Given the description of an element on the screen output the (x, y) to click on. 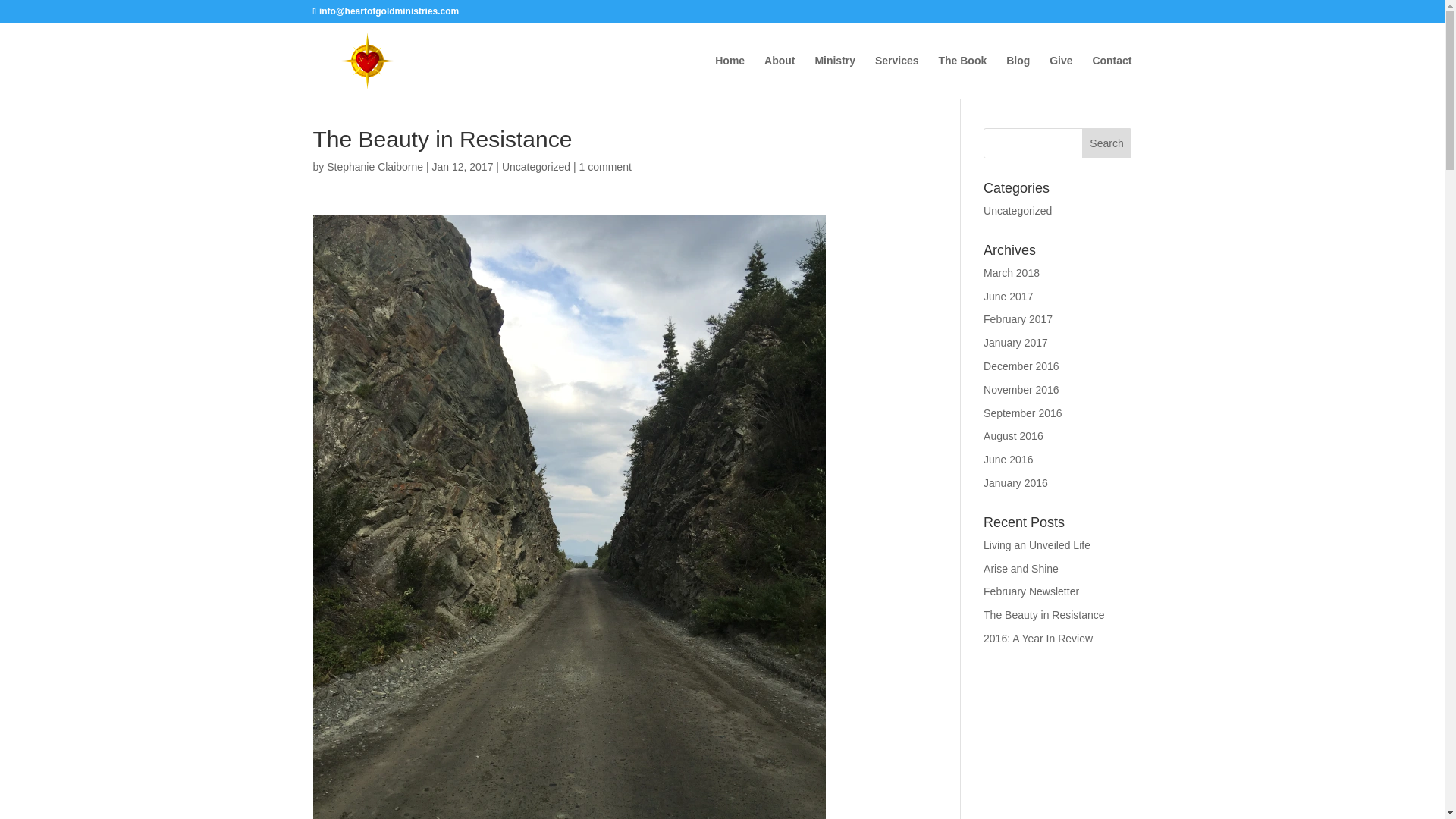
The Book (962, 76)
Living an Unveiled Life (1037, 544)
Search (1106, 142)
December 2016 (1021, 366)
February 2017 (1018, 318)
Uncategorized (1017, 210)
2016: A Year In Review (1038, 638)
November 2016 (1021, 389)
Arise and Shine (1021, 568)
June 2017 (1008, 296)
